Given the description of an element on the screen output the (x, y) to click on. 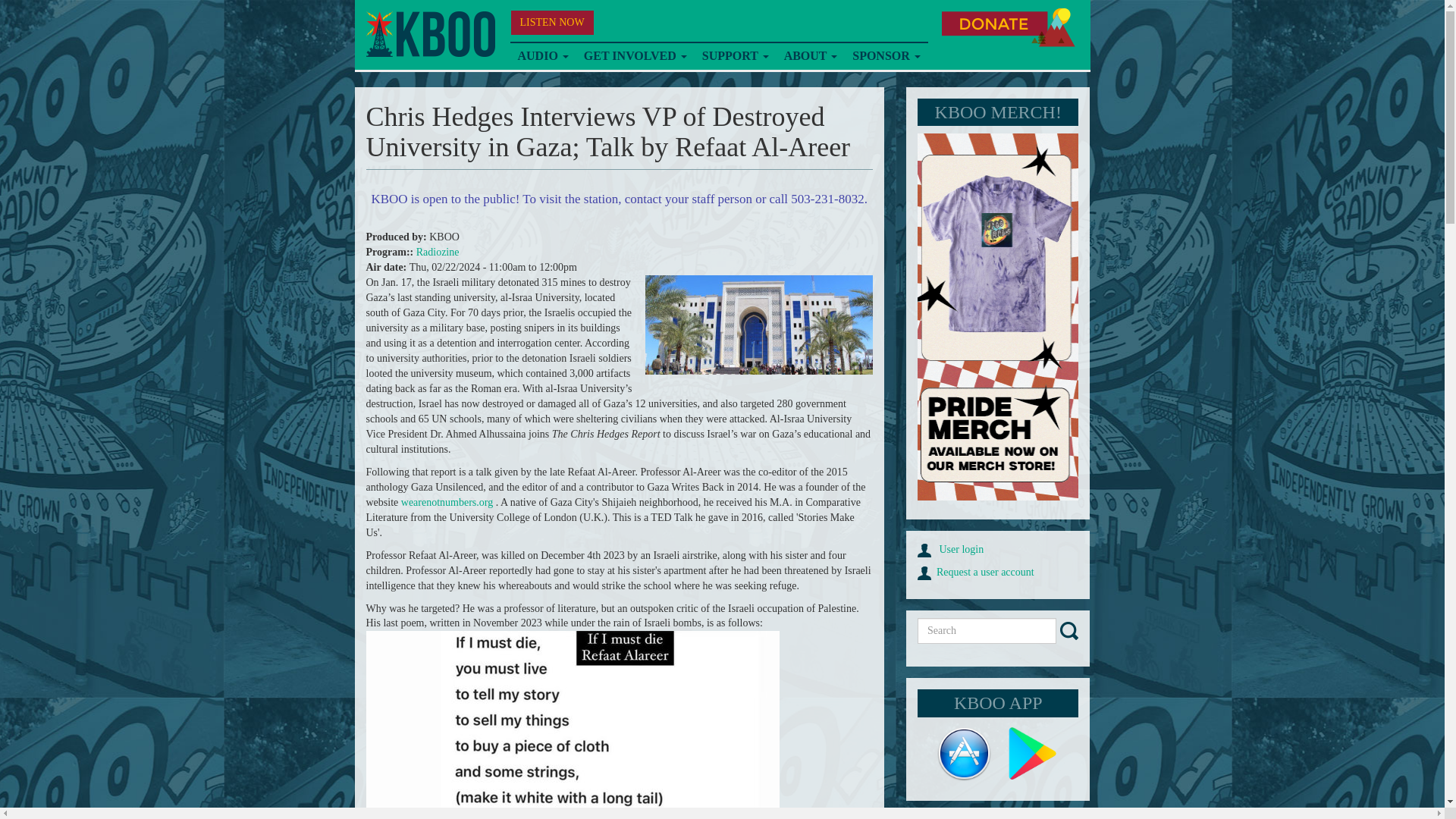
SPONSOR (886, 55)
SUPPORT (735, 55)
LISTEN NOW (551, 22)
ABOUT (810, 55)
GET INVOLVED (635, 55)
AUDIO (542, 55)
Home (430, 34)
